Given the description of an element on the screen output the (x, y) to click on. 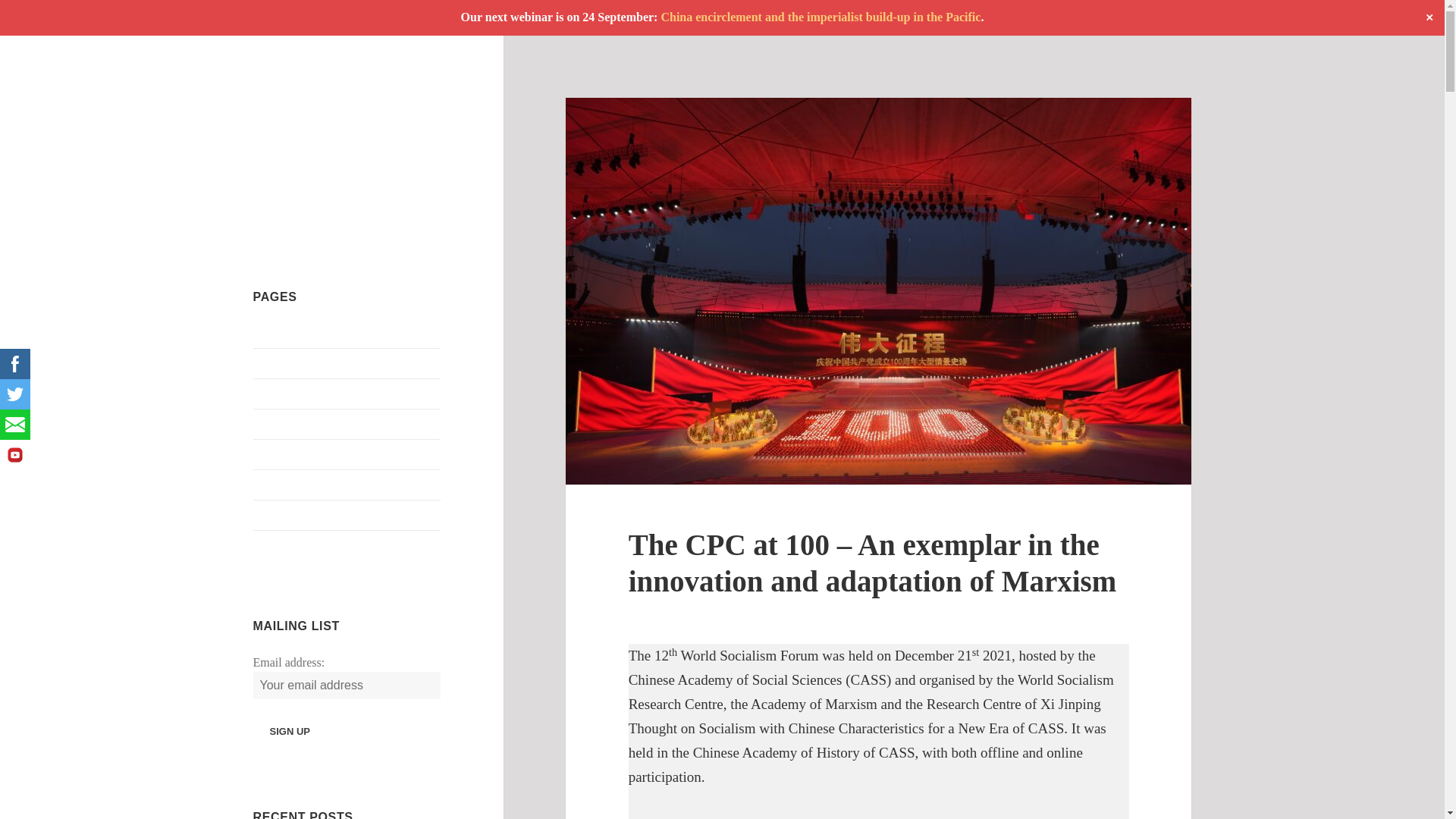
Who we are (282, 545)
Latest posts (282, 454)
About Friends of Socialist China (333, 332)
Newsletter (279, 484)
Sign up (289, 731)
Sign up (289, 731)
Register as a supporter (308, 514)
Friends of Socialist China (326, 121)
Analysis (274, 363)
